Given the description of an element on the screen output the (x, y) to click on. 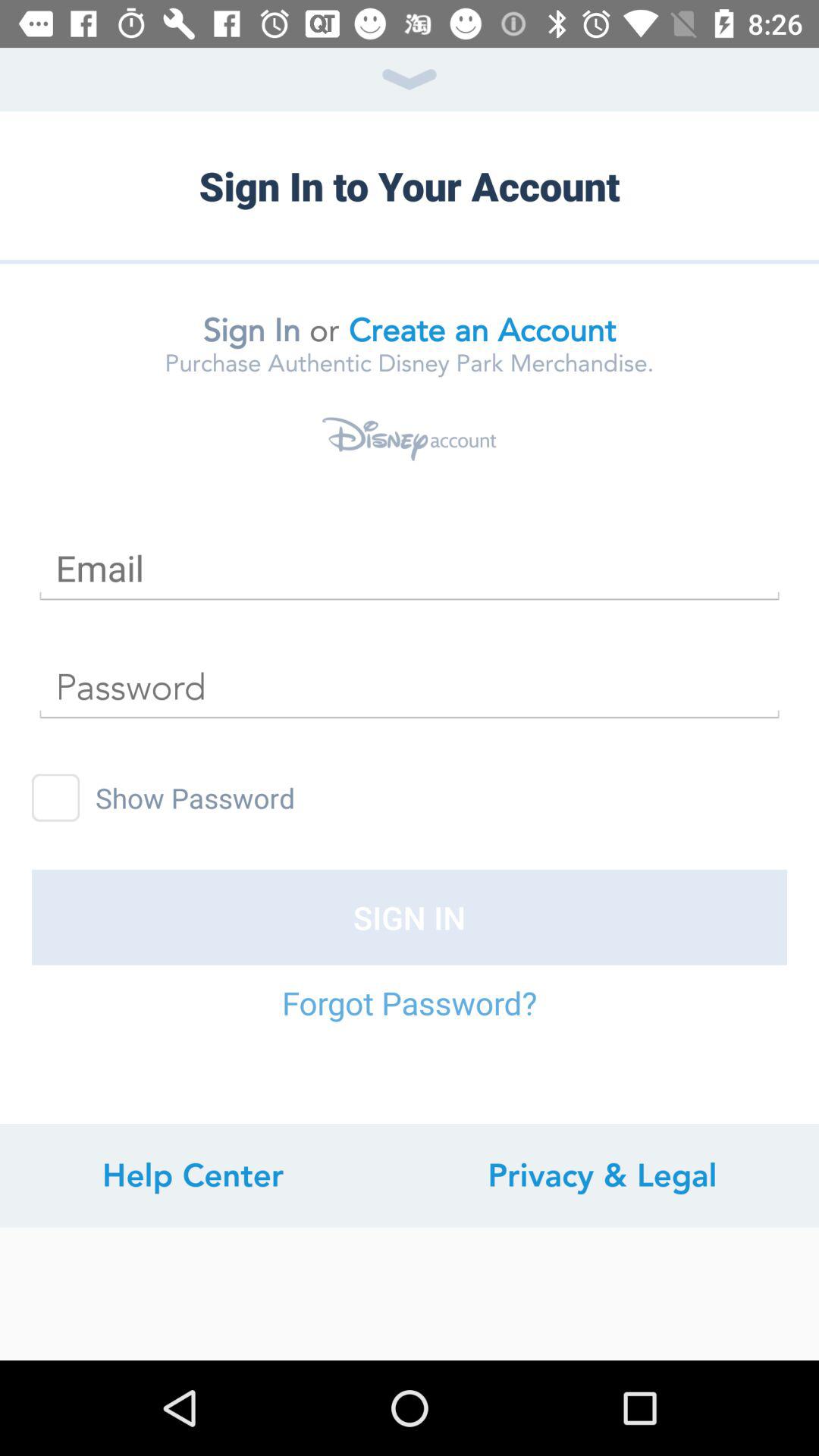
turn on item next to the show password item (55, 797)
